Given the description of an element on the screen output the (x, y) to click on. 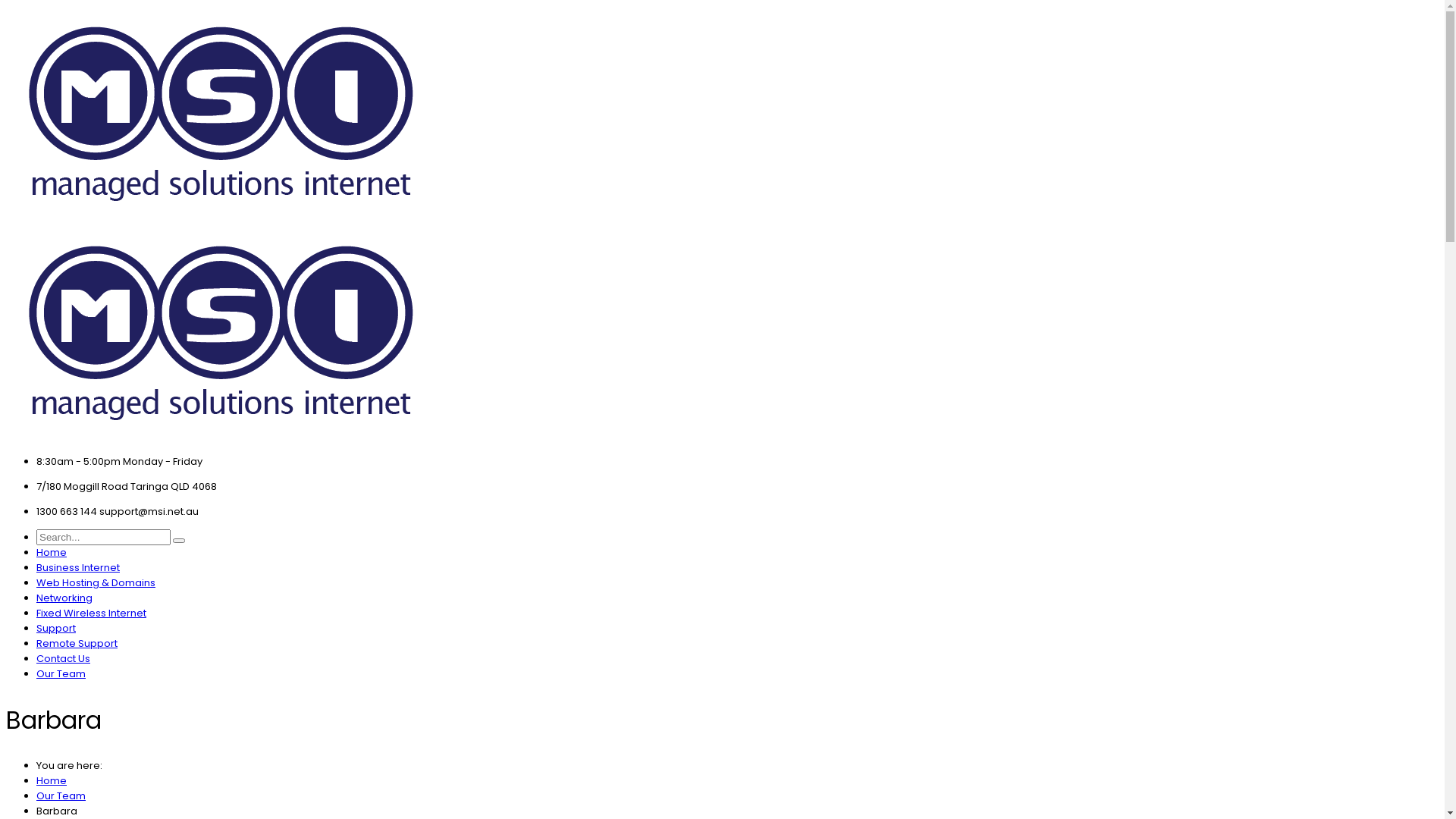
Networking Element type: text (64, 597)
Business Internet Element type: text (77, 567)
Our Team Element type: text (60, 795)
Remote Support Element type: text (76, 643)
Home Element type: text (51, 780)
Fixed Wireless Internet Element type: text (91, 612)
Managed Solutions Internet - MSI Element type: hover (221, 217)
Our Team Element type: text (60, 673)
Web Hosting & Domains Element type: text (95, 582)
Contact Us Element type: text (63, 658)
Managed Solutions Internet - MSI Element type: hover (221, 436)
Support Element type: text (55, 628)
Home Element type: text (51, 552)
